Given the description of an element on the screen output the (x, y) to click on. 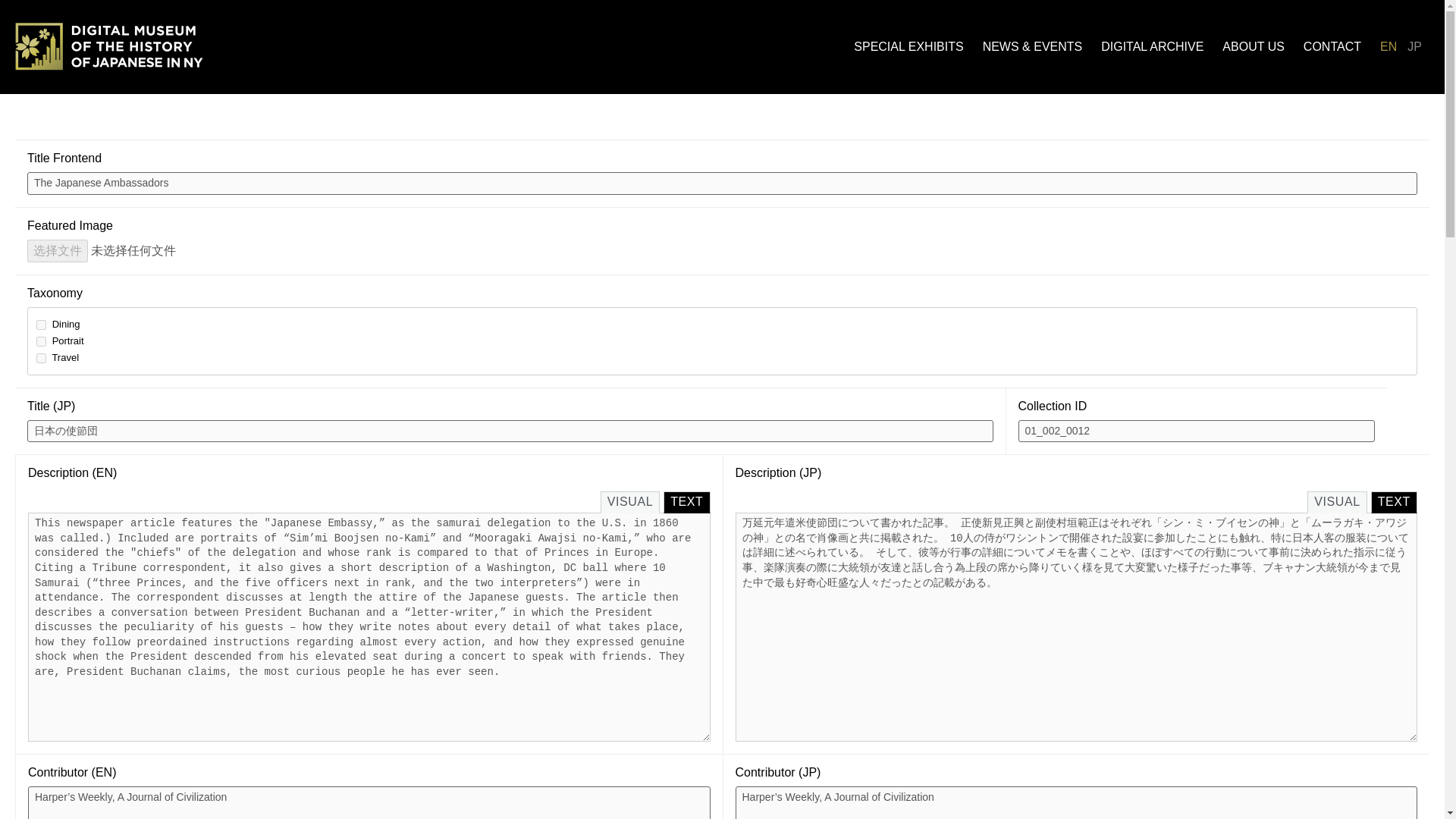
VISUAL (630, 502)
DIGITAL ARCHIVE (1152, 47)
TEXT (1393, 502)
JP (1414, 47)
141 (41, 325)
EN (1389, 47)
142 (41, 357)
SPECIAL EXHIBITS (907, 47)
The Japanese Ambassadors (721, 182)
144 (41, 341)
